Given the description of an element on the screen output the (x, y) to click on. 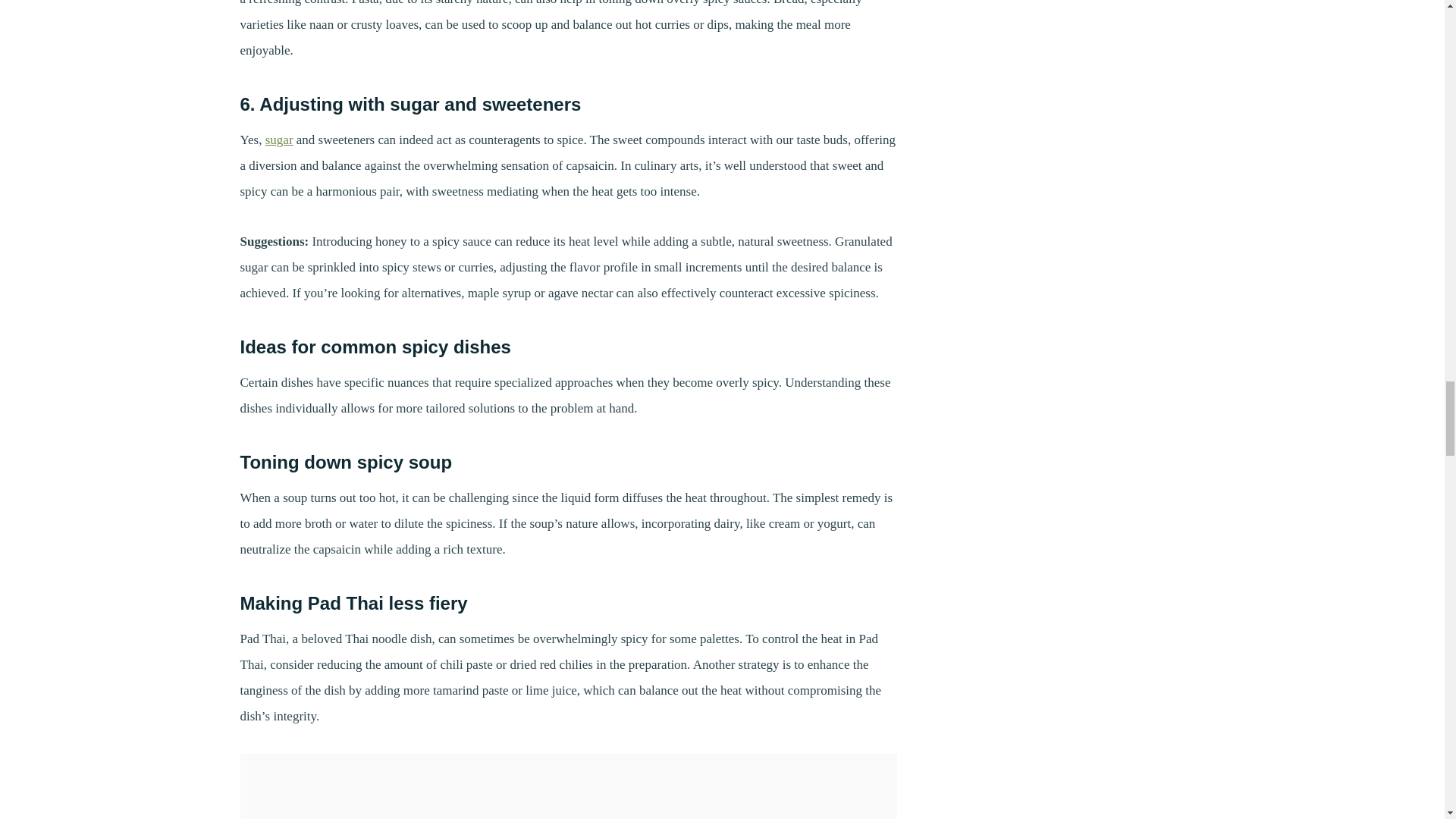
sugar (279, 139)
